Given the description of an element on the screen output the (x, y) to click on. 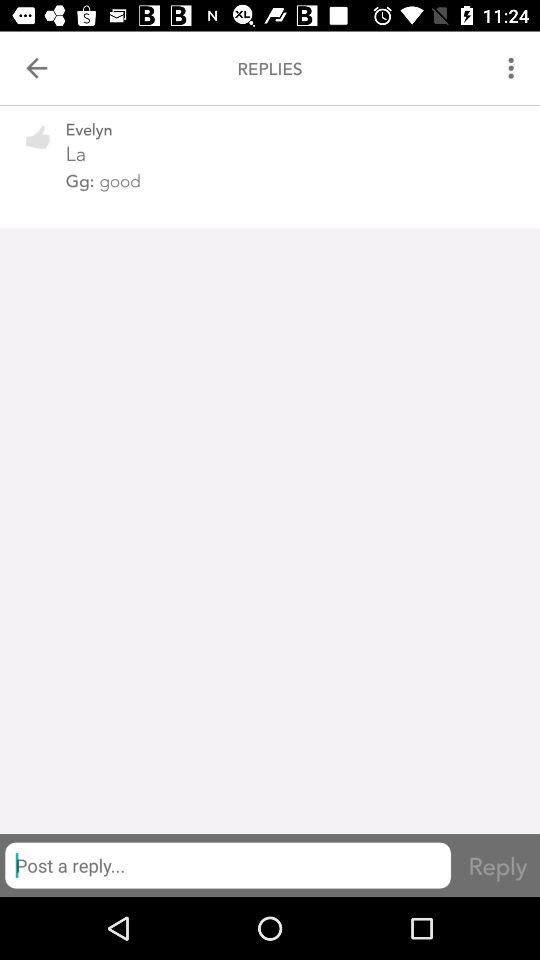
enter your reply (227, 865)
